Given the description of an element on the screen output the (x, y) to click on. 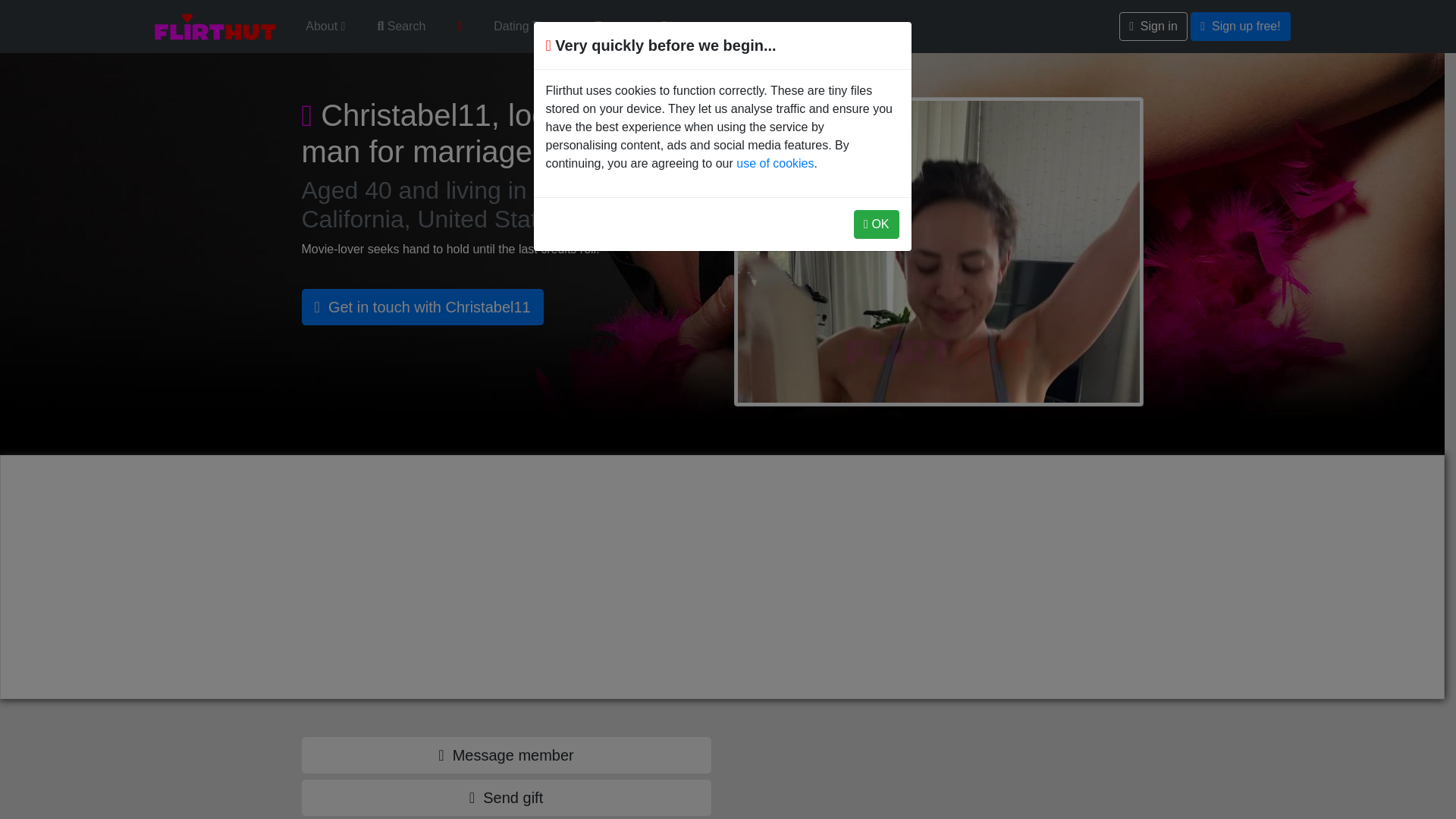
  Sign up free! (1240, 26)
  Message member (506, 755)
  Sign in (1153, 26)
Search members (400, 26)
Dating extras (459, 26)
Dating Tips (527, 26)
Dating tips (527, 26)
  Get in touch with Christabel11 (422, 307)
Blog (673, 26)
About (324, 26)
  Send gift (506, 797)
Forum (611, 26)
Search (400, 26)
About (324, 26)
